Given the description of an element on the screen output the (x, y) to click on. 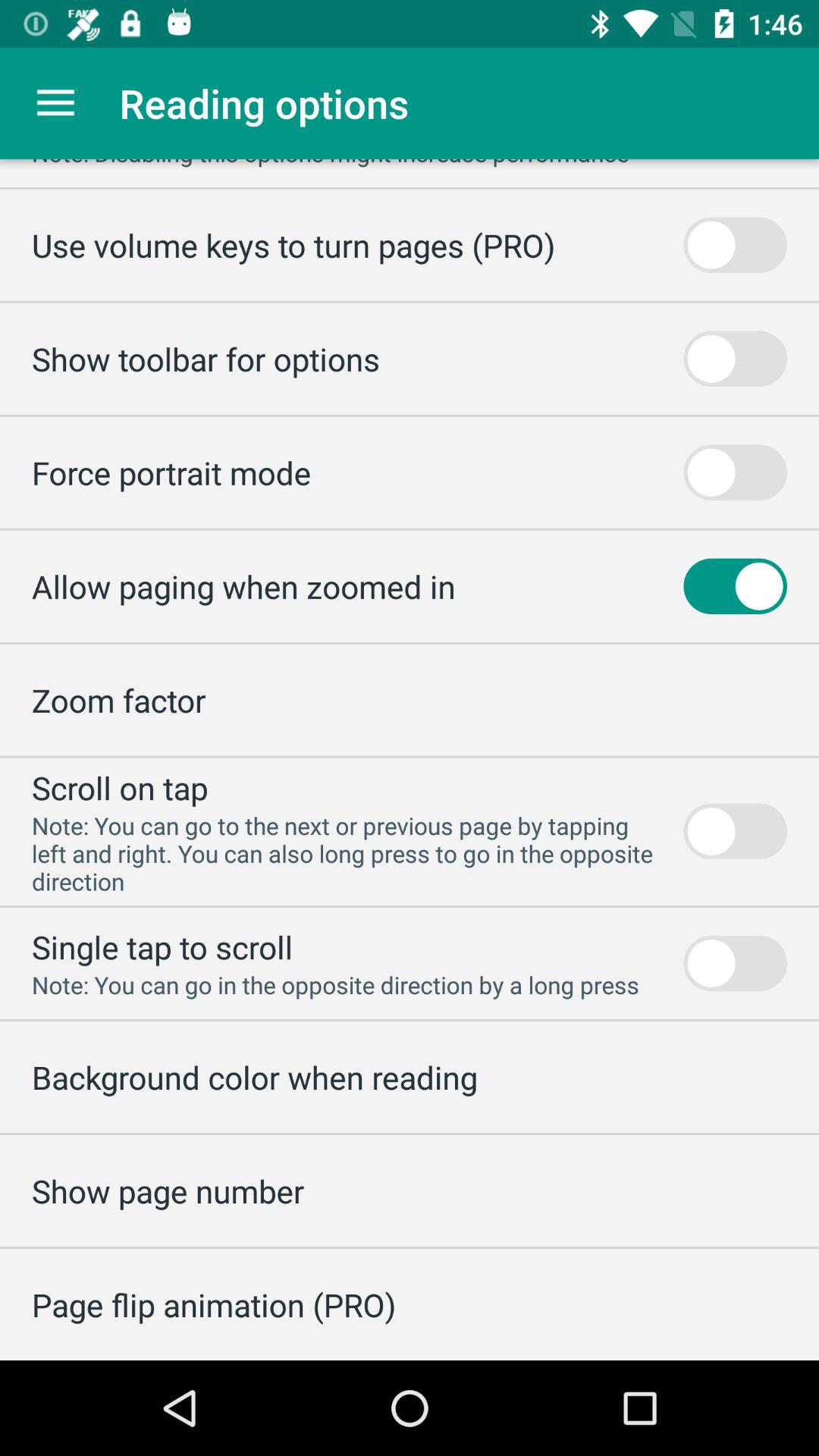
jump until the use volume keys item (293, 244)
